Given the description of an element on the screen output the (x, y) to click on. 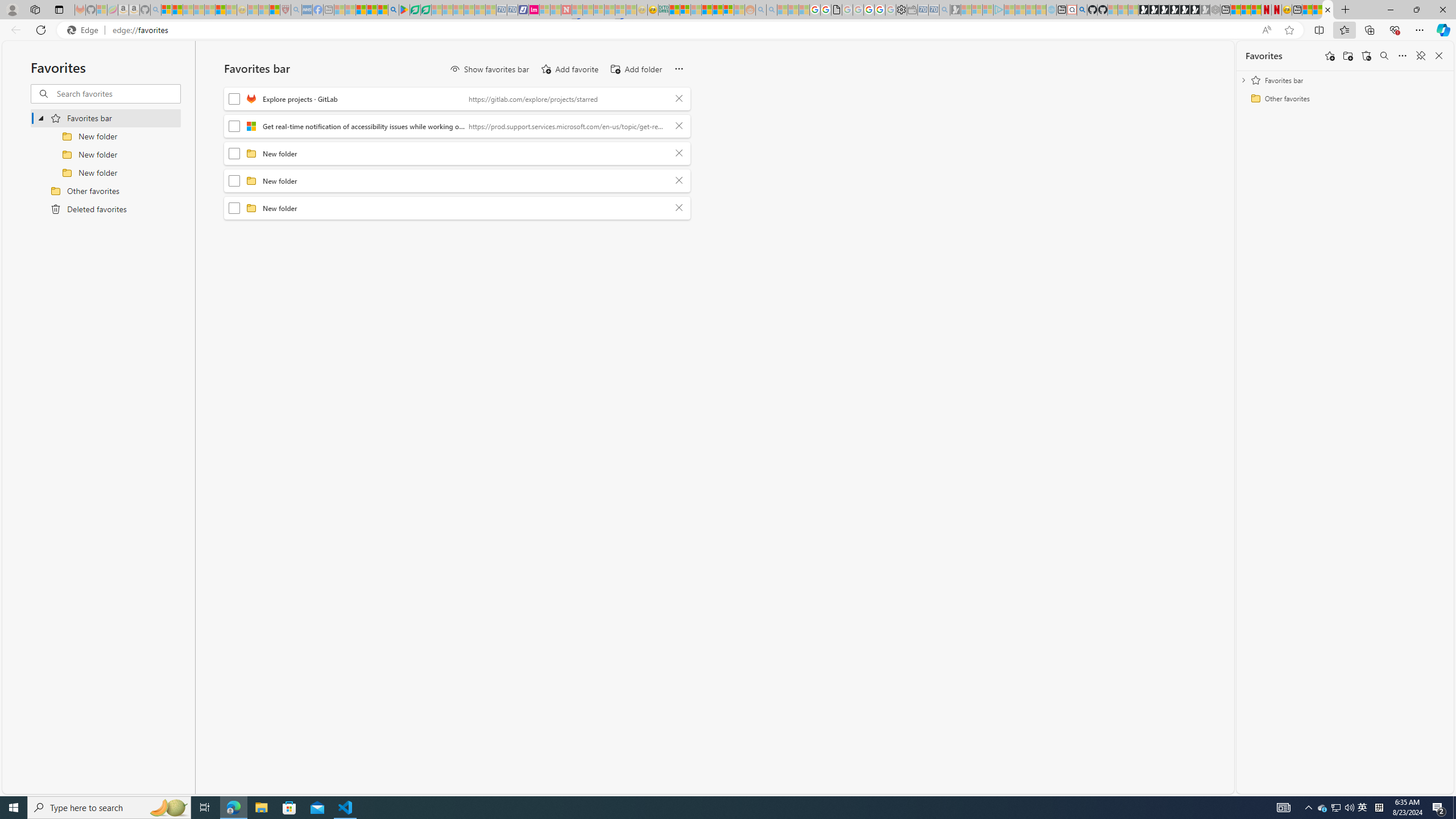
Close favorites (1439, 55)
Unpin favorites (1420, 55)
Microsoft Start Gaming - Sleeping (954, 9)
Recipes - MSN - Sleeping (253, 9)
